Given the description of an element on the screen output the (x, y) to click on. 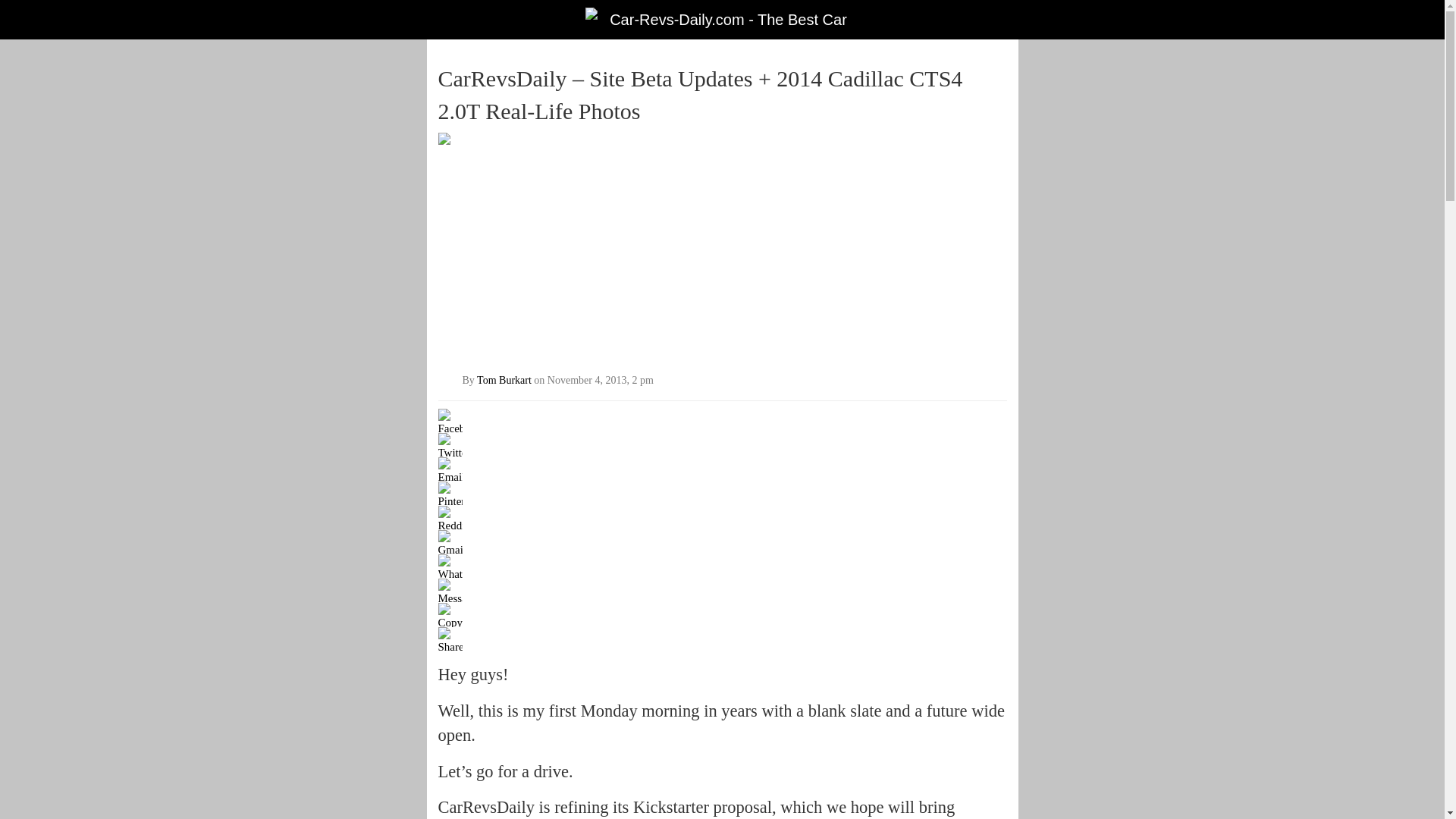
Tom Burkart (504, 380)
